Given the description of an element on the screen output the (x, y) to click on. 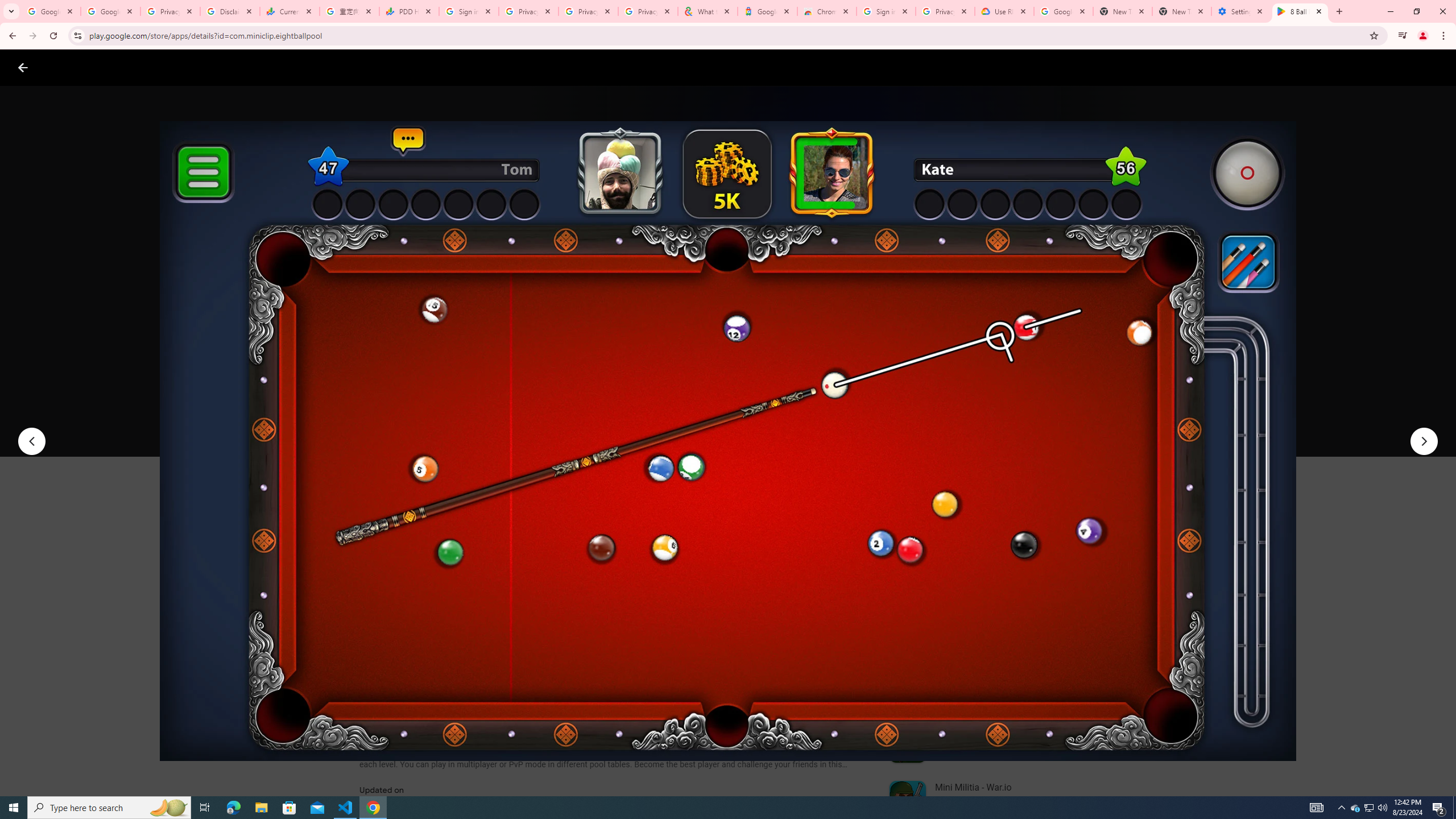
Content rating (553, 373)
8 Ball Pool - Apps on Google Play (1300, 11)
Next (1424, 441)
